Given the description of an element on the screen output the (x, y) to click on. 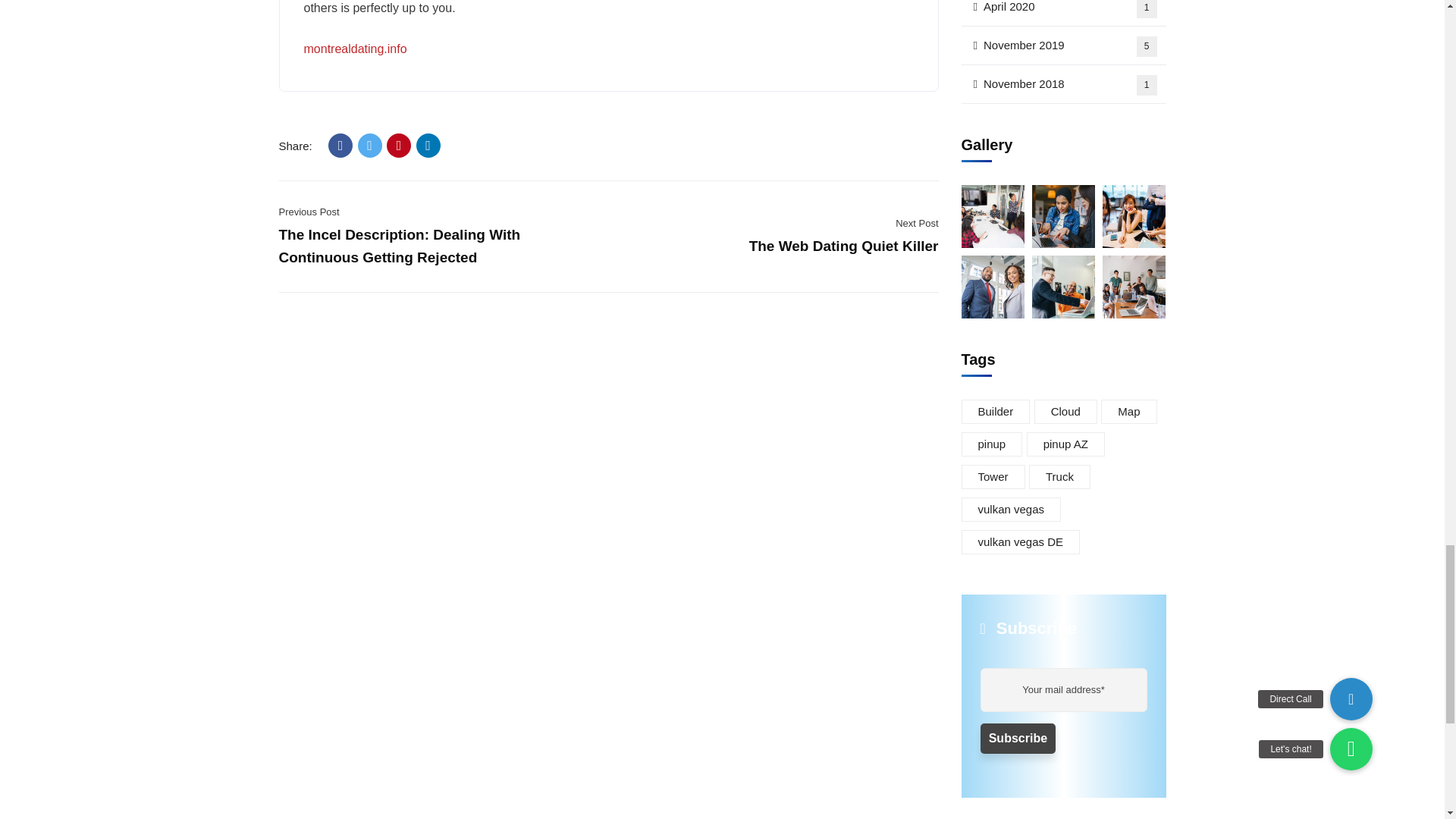
Pinterest (398, 145)
Facebook (340, 145)
LinkedIn (428, 145)
Twitter (369, 145)
The Web Dating Quiet Killer (844, 245)
montrealdating.info (354, 48)
Subscribe (1017, 738)
